Given the description of an element on the screen output the (x, y) to click on. 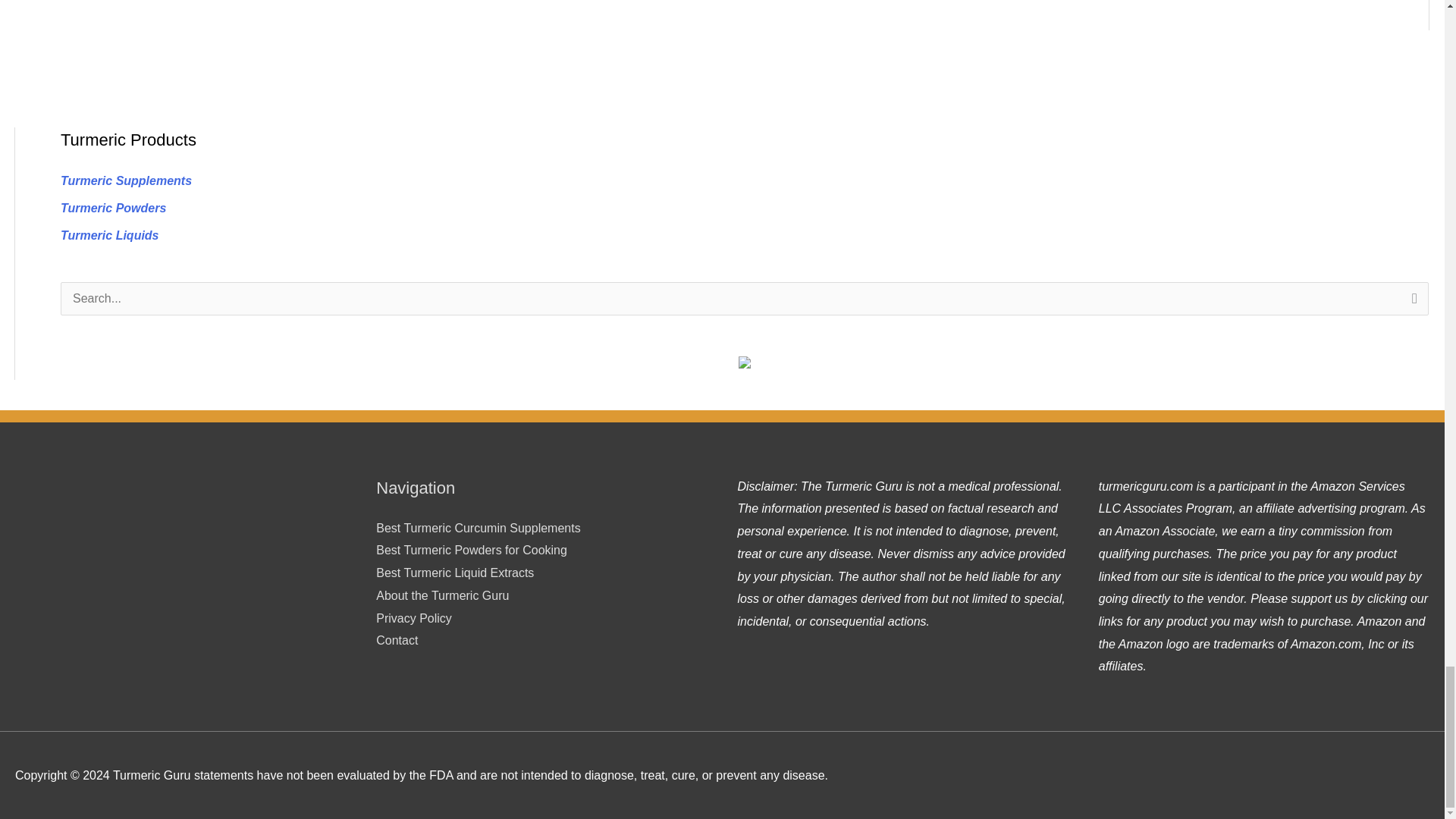
Best Turmeric Curcumin Supplements (477, 527)
Best Turmeric Powders for Cooking (471, 549)
Best Turmeric Liquid Extracts (454, 572)
Privacy Policy (413, 617)
Contact (396, 640)
Turmeric Liquids (109, 235)
About the Turmeric Guru (441, 594)
Turmeric Supplements (126, 180)
Turmeric Powders (113, 207)
